Given the description of an element on the screen output the (x, y) to click on. 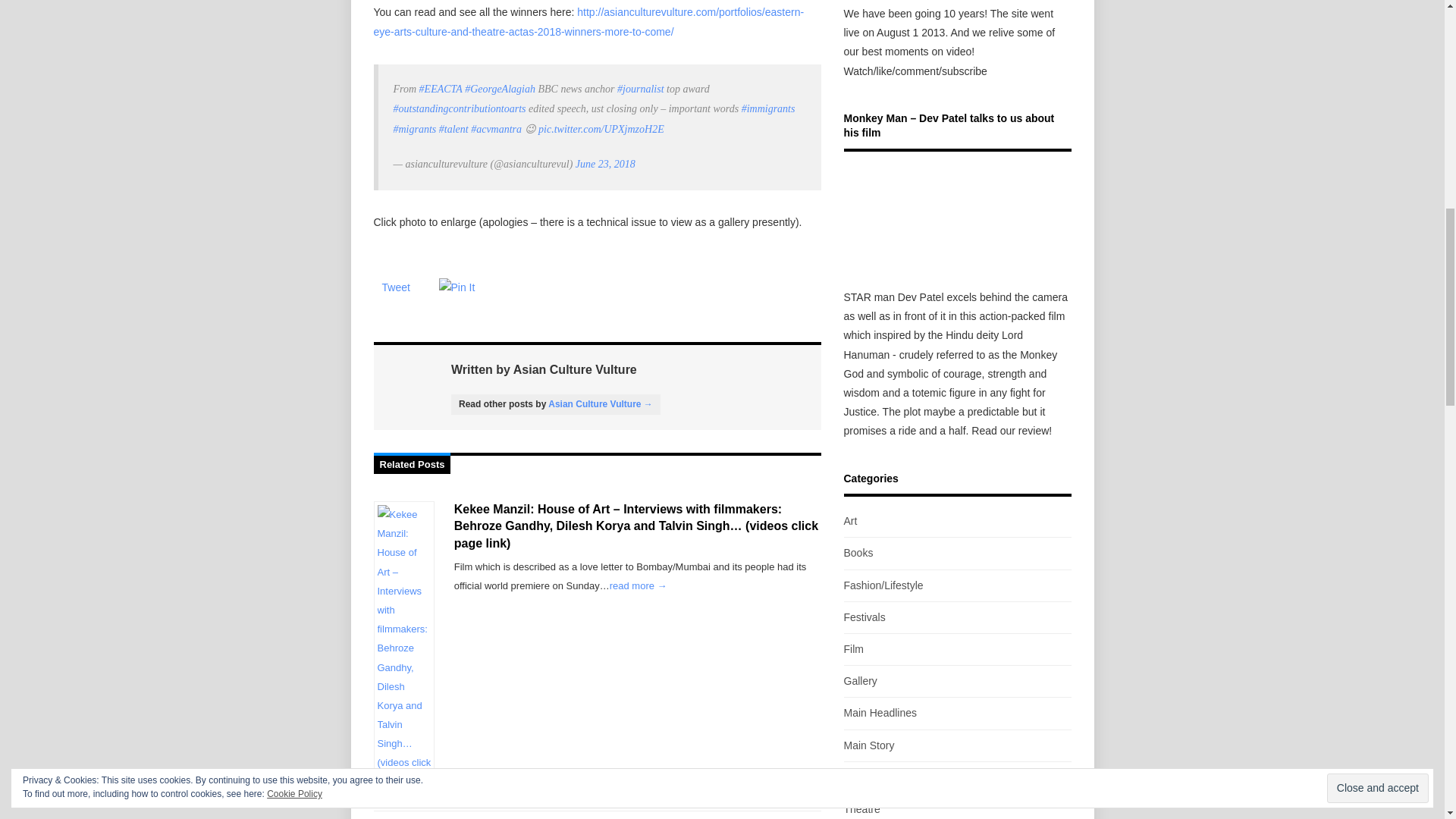
June 23, 2018 (604, 163)
